Given the description of an element on the screen output the (x, y) to click on. 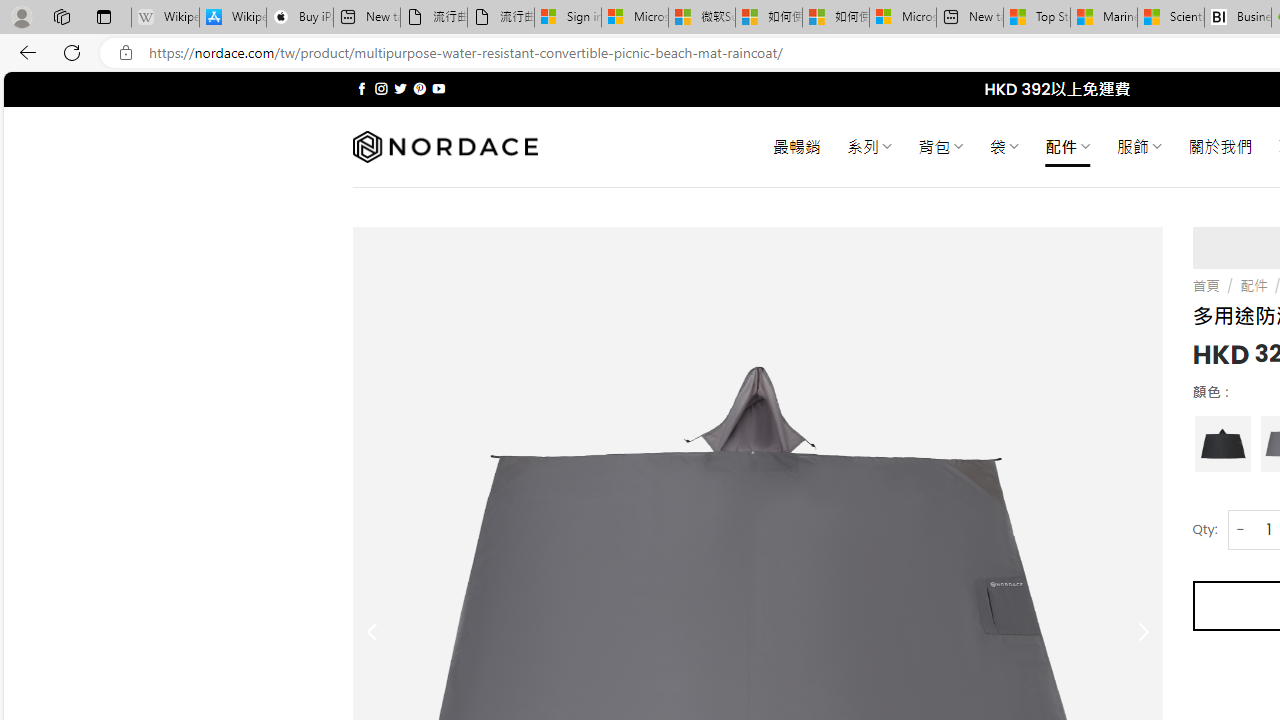
Follow on Instagram (381, 88)
Microsoft account | Account Checkup (902, 17)
